Given the description of an element on the screen output the (x, y) to click on. 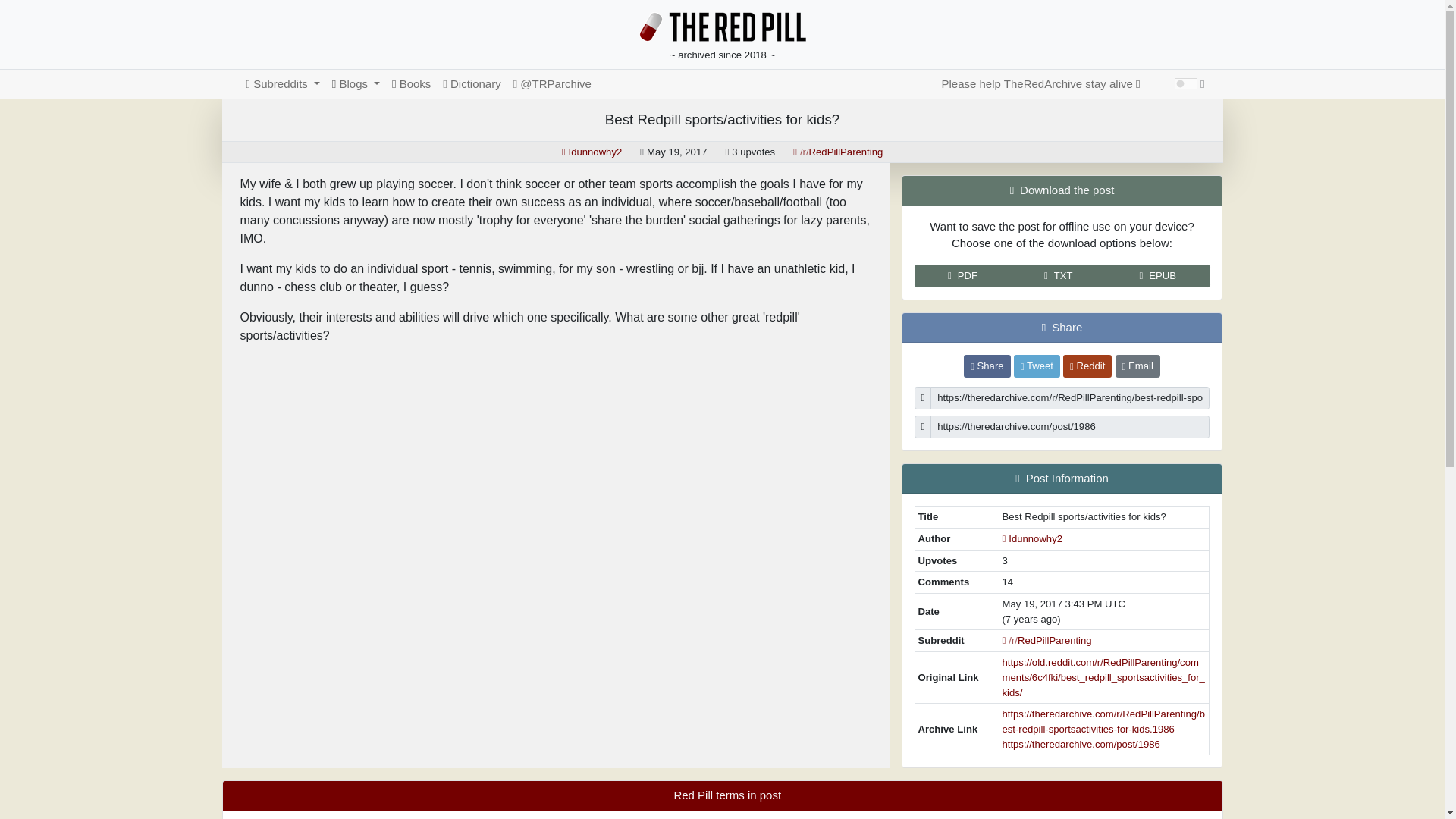
on (1185, 83)
Tweet this post (1036, 365)
Subreddits (282, 84)
Email this post (1137, 365)
Share this post on Reddit (1087, 365)
Share this post on Facebook (986, 365)
